Given the description of an element on the screen output the (x, y) to click on. 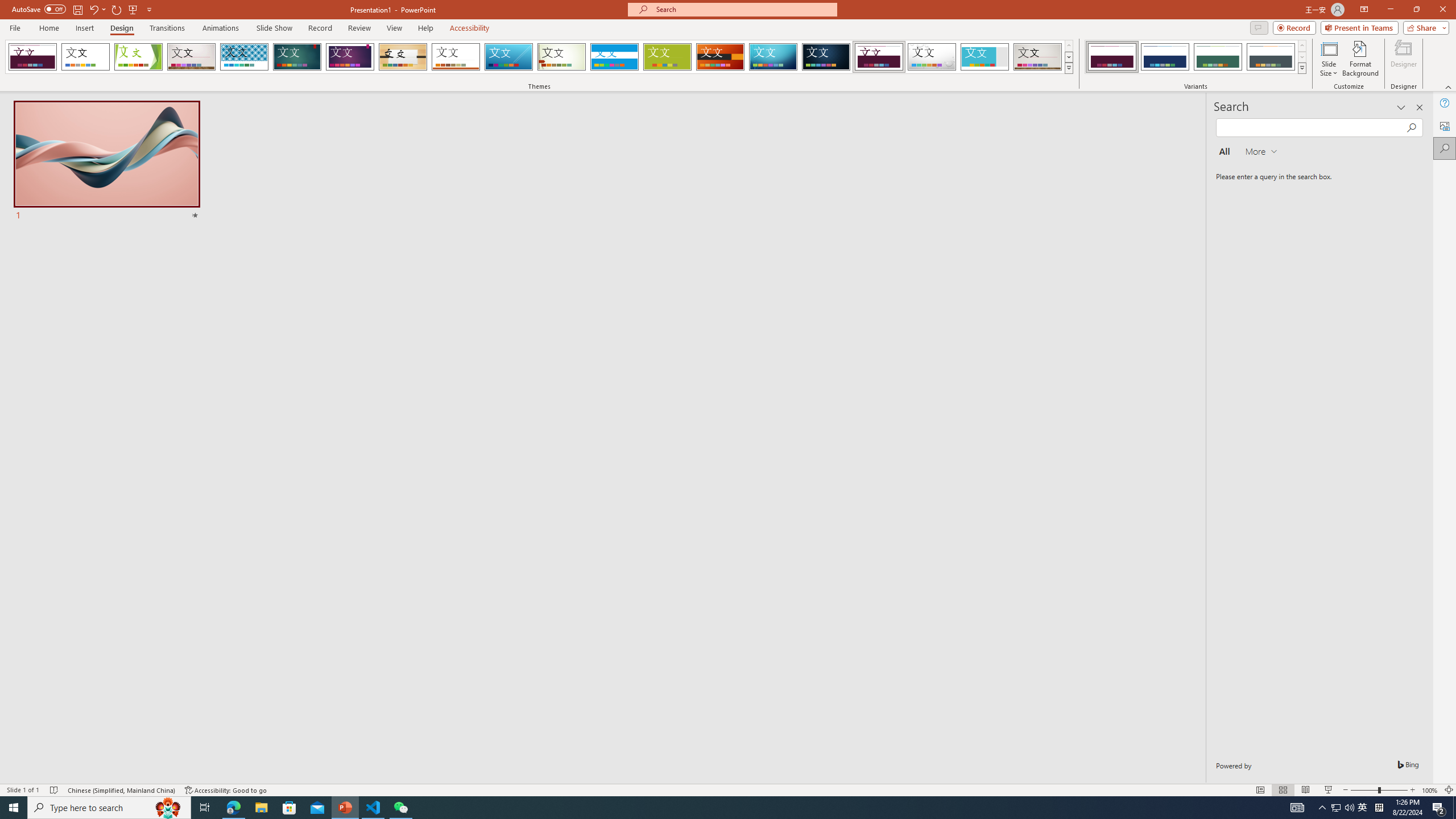
Ion Boardroom (350, 56)
Integral (244, 56)
Dividend (879, 56)
AutomationID: SlideThemesGallery (539, 56)
Ion (296, 56)
